Given the description of an element on the screen output the (x, y) to click on. 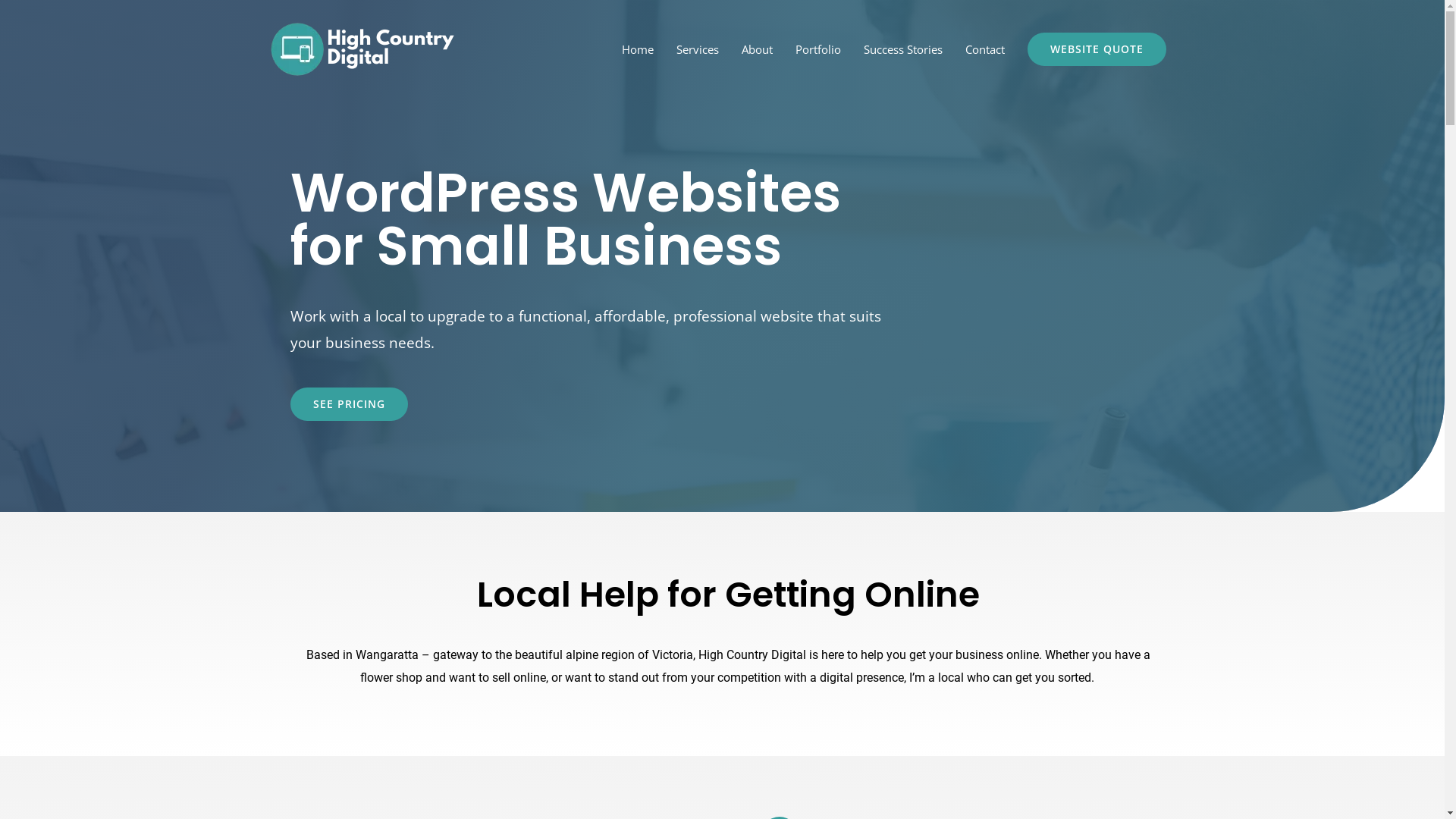
SEE PRICING Element type: text (348, 403)
WEBSITE QUOTE Element type: text (1095, 48)
Home Element type: text (636, 49)
About Element type: text (756, 49)
Services Element type: text (696, 49)
Portfolio Element type: text (818, 49)
Success Stories Element type: text (902, 49)
Contact Element type: text (984, 49)
